Given the description of an element on the screen output the (x, y) to click on. 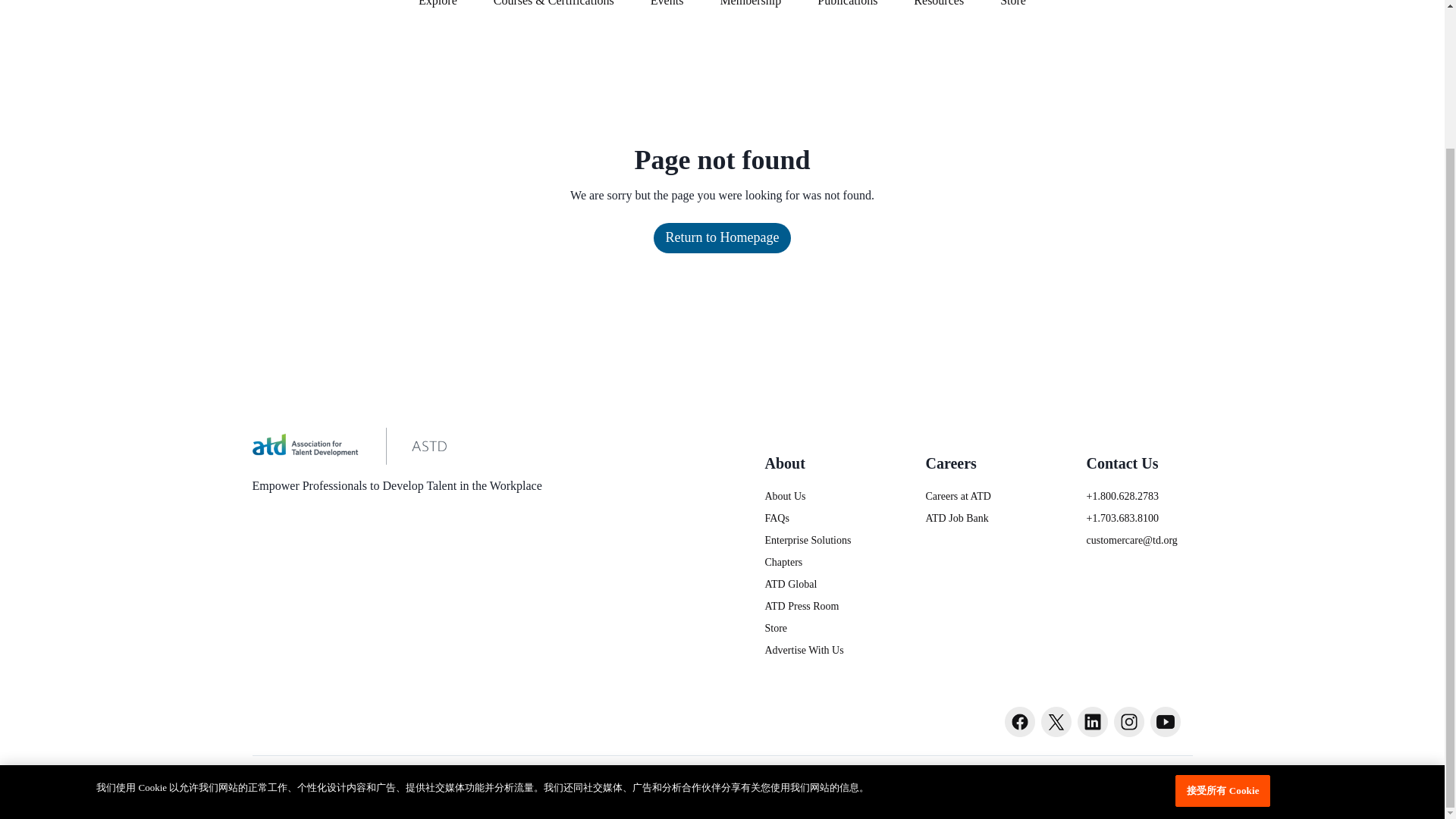
Advertise With Us (817, 650)
ATD Press Room (817, 606)
Publications (847, 9)
Chapters (817, 562)
FAQs (817, 518)
Careers at ATD (977, 496)
ATD Job Bank (977, 518)
Privacy Notice (1051, 775)
Terms of Use (961, 775)
Resources (938, 9)
About Us (817, 496)
Cookie Policy (1143, 775)
Return to Homepage (722, 237)
Store (1013, 9)
ATD Global (817, 584)
